Given the description of an element on the screen output the (x, y) to click on. 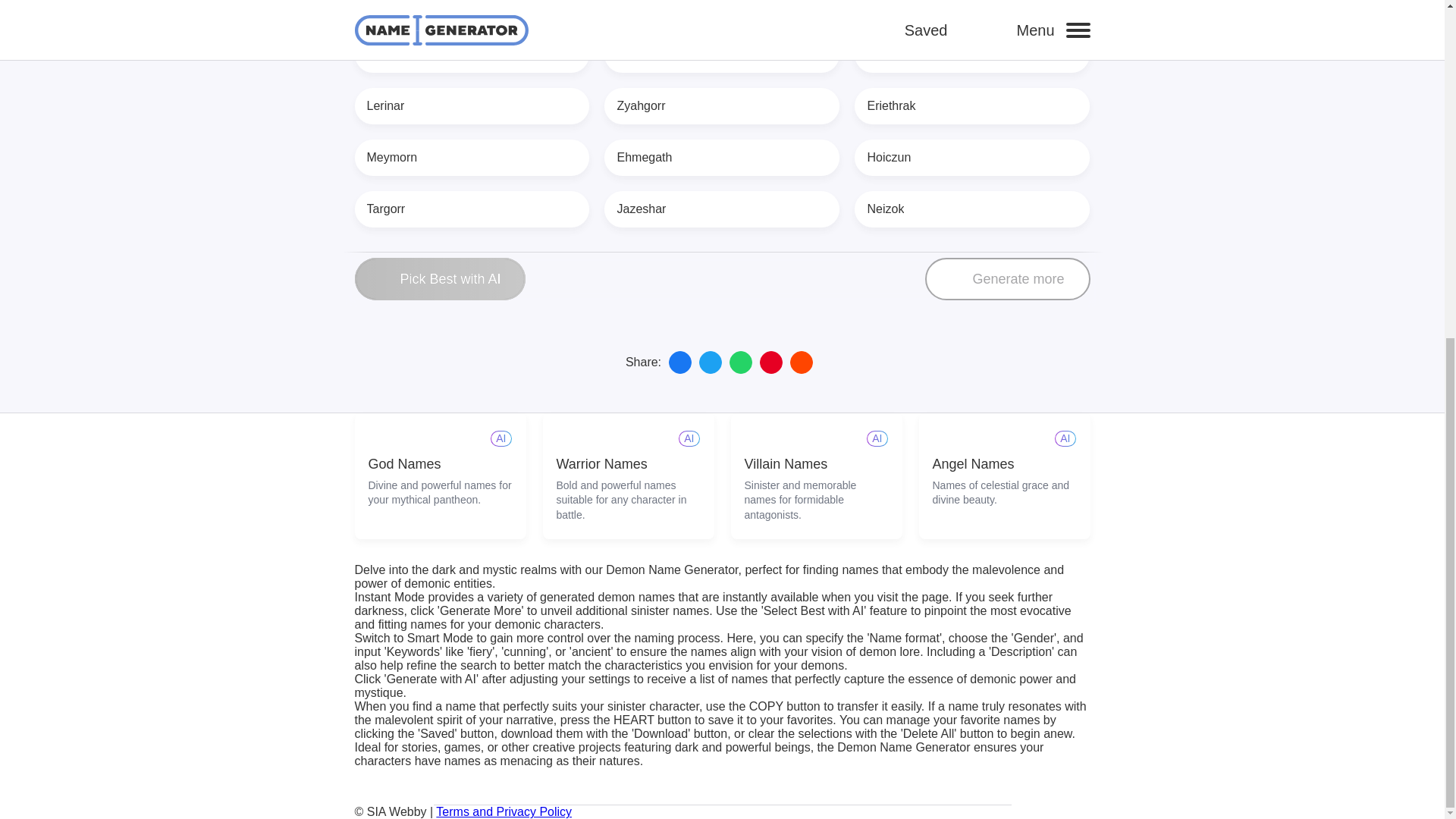
twitter (710, 362)
reddit (801, 362)
whatsapp (740, 362)
pinterest (771, 362)
facebook (679, 362)
